Given the description of an element on the screen output the (x, y) to click on. 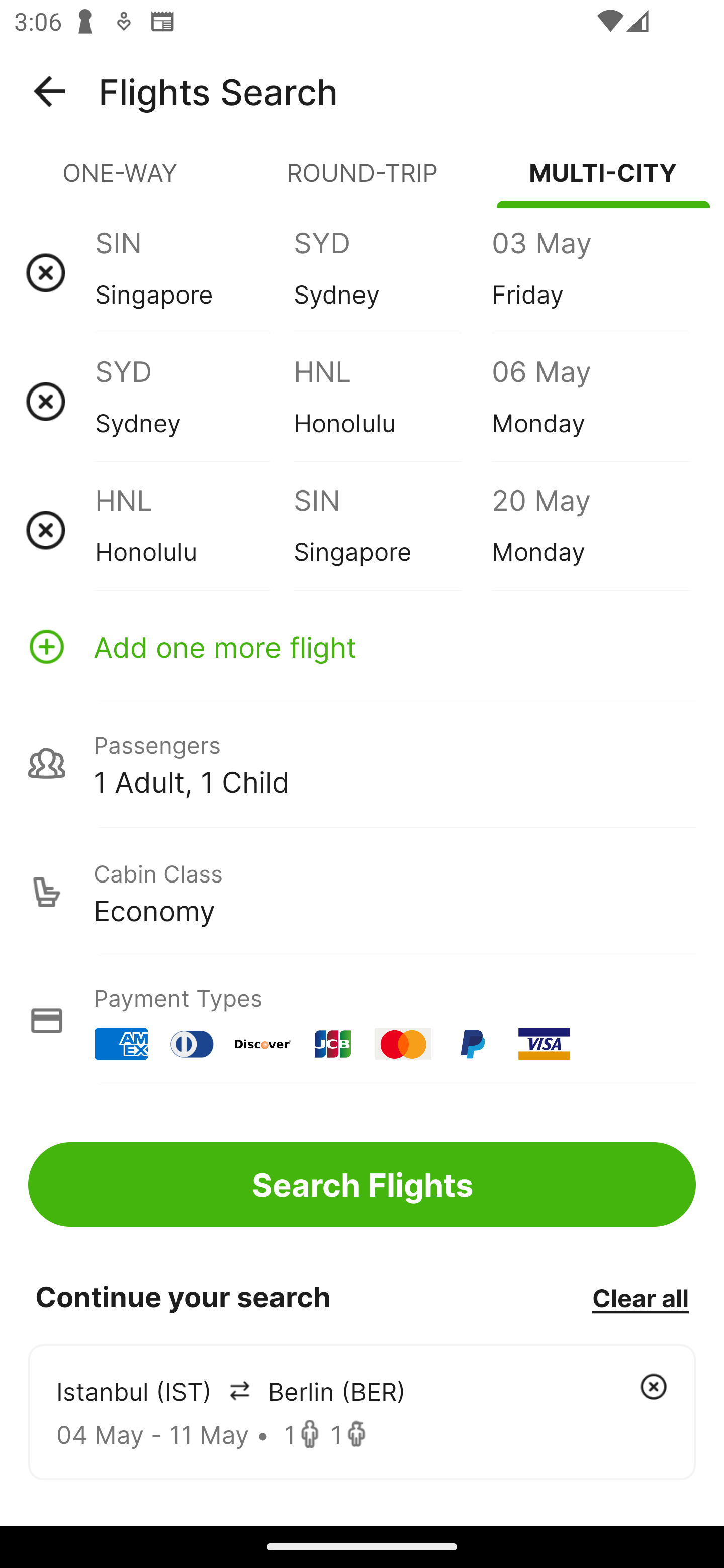
ONE-WAY (120, 180)
ROUND-TRIP (361, 180)
MULTI-CITY (603, 180)
SIN Singapore (193, 272)
SYD Sydney (392, 272)
03 May Friday (590, 272)
SYD Sydney (193, 401)
HNL Honolulu (392, 401)
06 May Monday (590, 401)
HNL Honolulu (193, 529)
SIN Singapore (392, 529)
20 May Monday (590, 529)
Add one more flight (362, 646)
Passengers 1 Adult, 1 Child (362, 762)
Cabin Class Economy (362, 891)
Payment Types (362, 1020)
Search Flights (361, 1184)
Clear all (640, 1297)
